Given the description of an element on the screen output the (x, y) to click on. 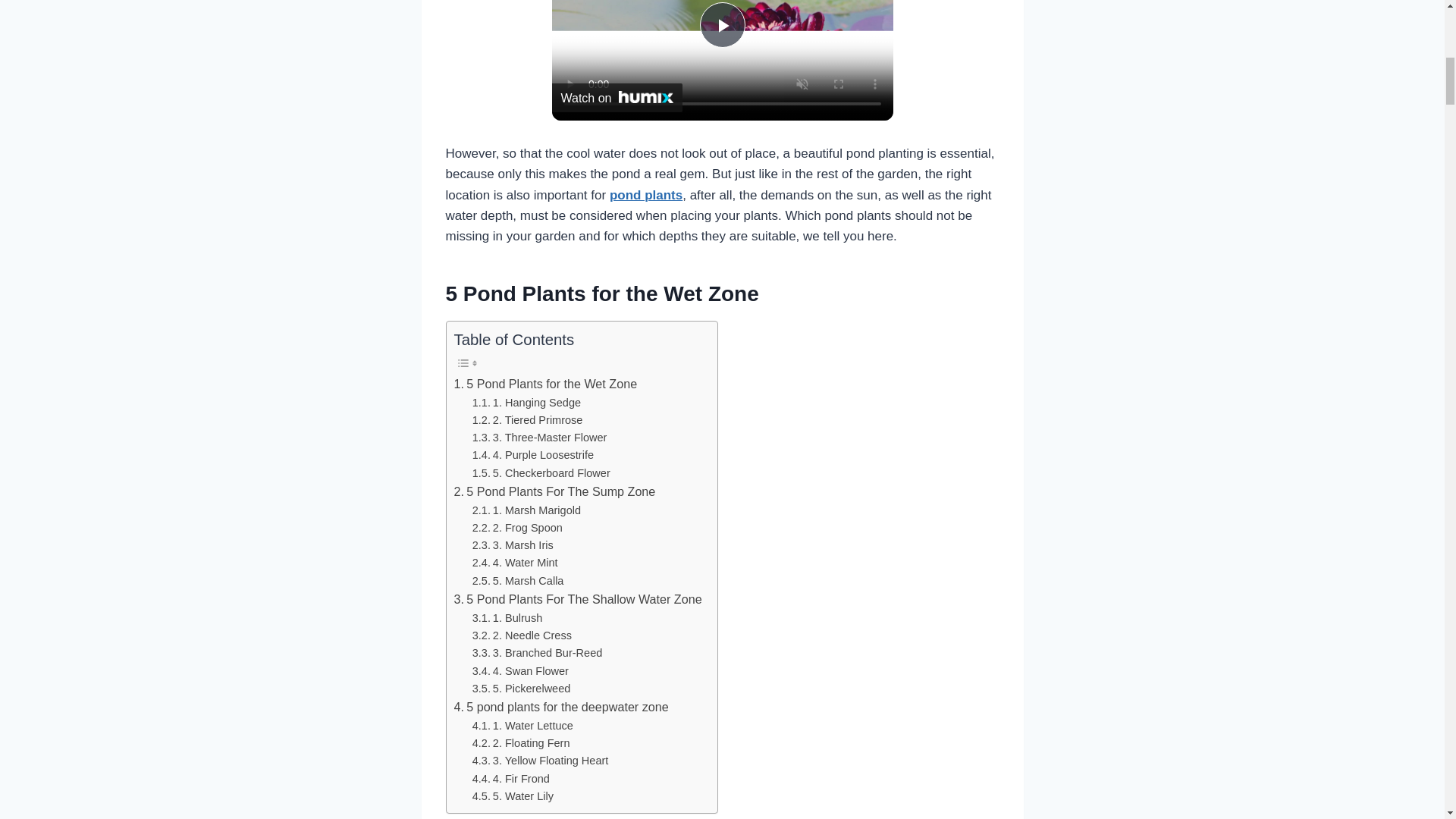
3. Three-Master Flower (539, 437)
2. Tiered Primrose (527, 420)
3. Three-Master Flower (539, 437)
3. Marsh Iris (512, 545)
Watch on (616, 97)
5. Checkerboard Flower (540, 473)
Play Video (721, 24)
4. Water Mint (514, 562)
4. Purple Loosestrife (532, 455)
2. Frog Spoon (516, 528)
1. Hanging Sedge (525, 402)
5 Pond Plants for the Wet Zone (544, 383)
5 Pond Plants for the Wet Zone (544, 383)
Play Video (721, 24)
5 Pond Plants For The Sump Zone (553, 492)
